Given the description of an element on the screen output the (x, y) to click on. 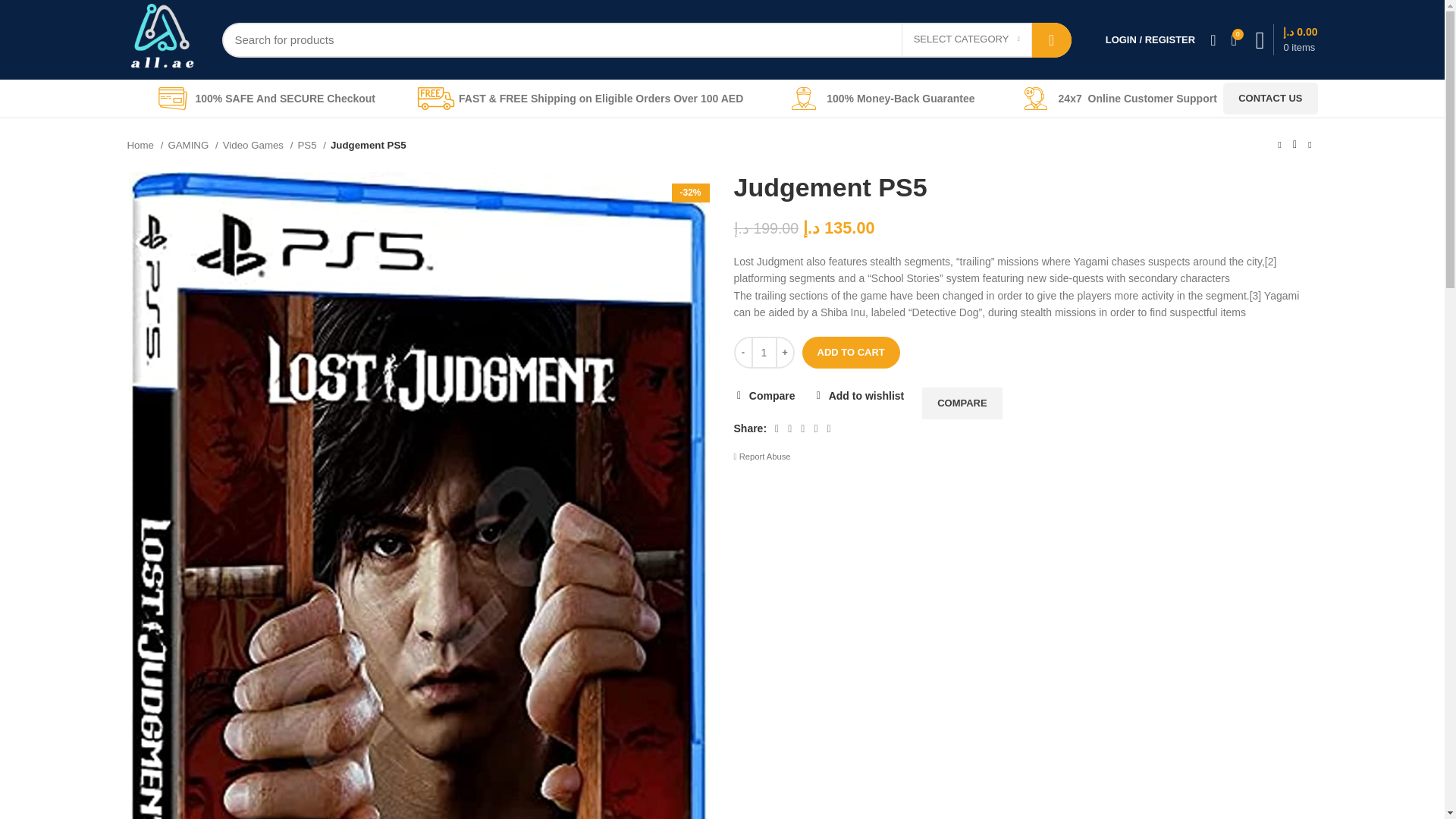
SELECT CATEGORY (966, 40)
SEARCH (1051, 39)
SELECT CATEGORY (966, 40)
My account (1149, 39)
Shopping cart (1285, 39)
Search for products (645, 39)
